Given the description of an element on the screen output the (x, y) to click on. 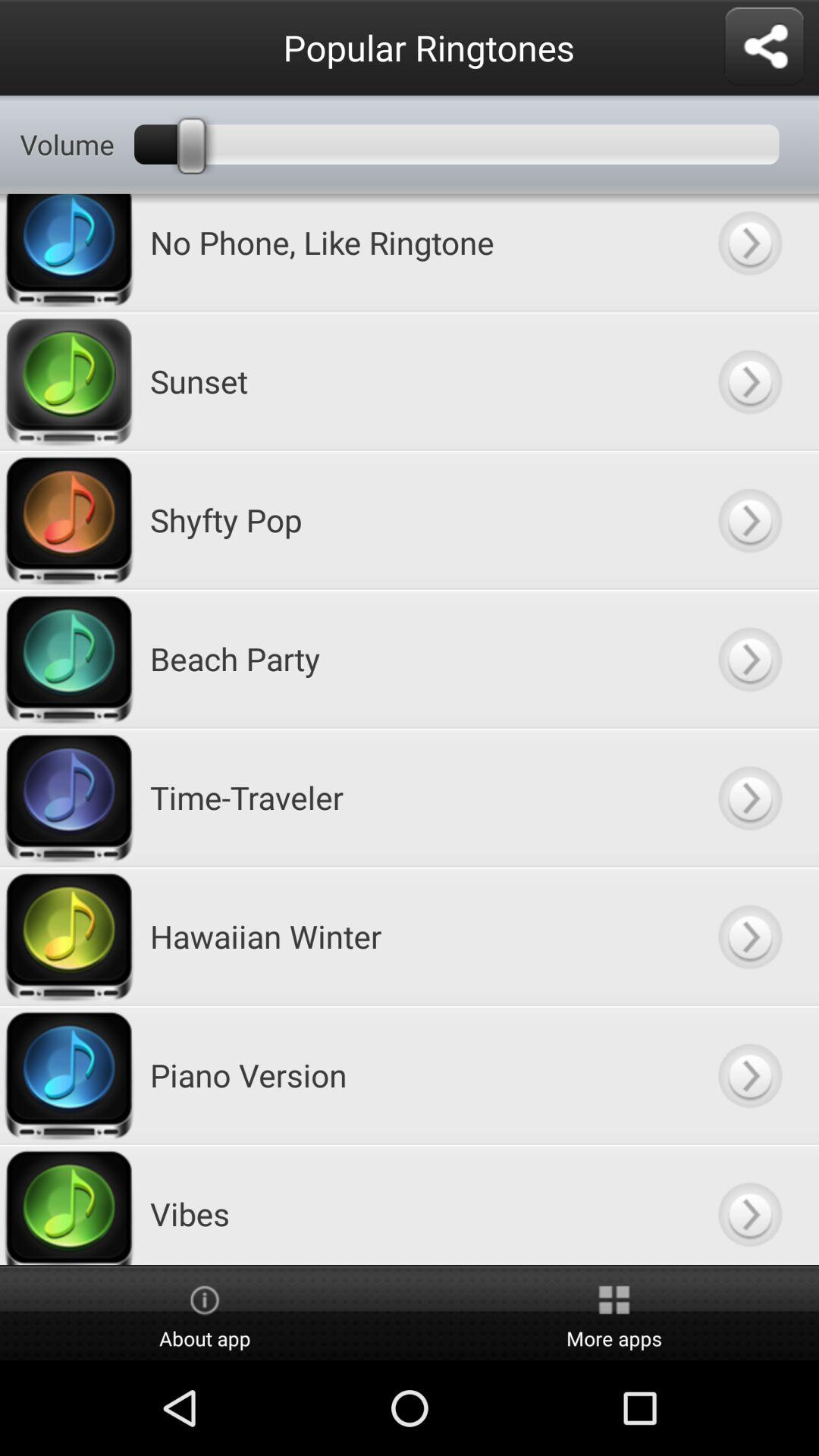
ring tone play botton (749, 381)
